Given the description of an element on the screen output the (x, y) to click on. 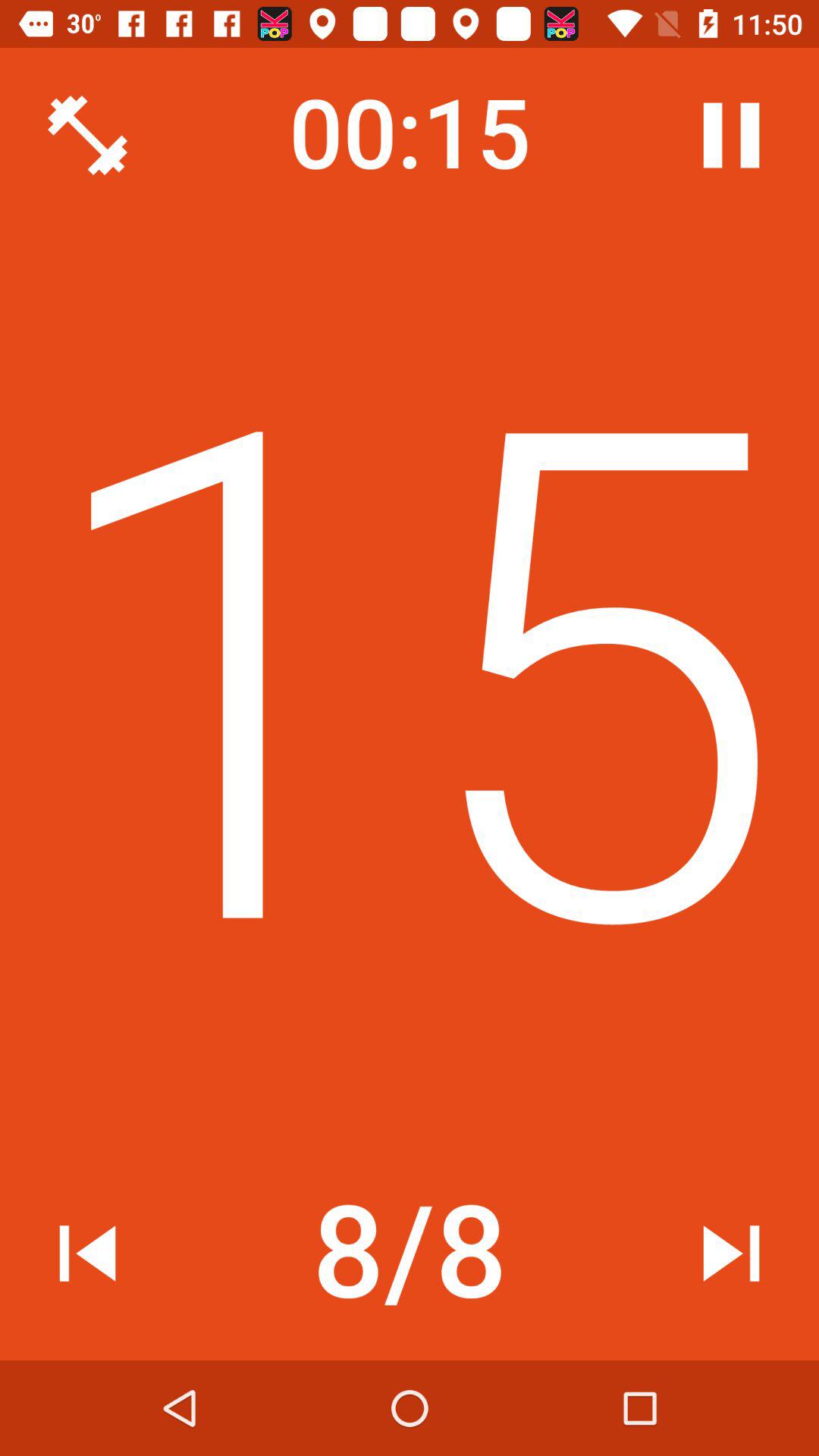
launch icon at the top left corner (87, 135)
